Given the description of an element on the screen output the (x, y) to click on. 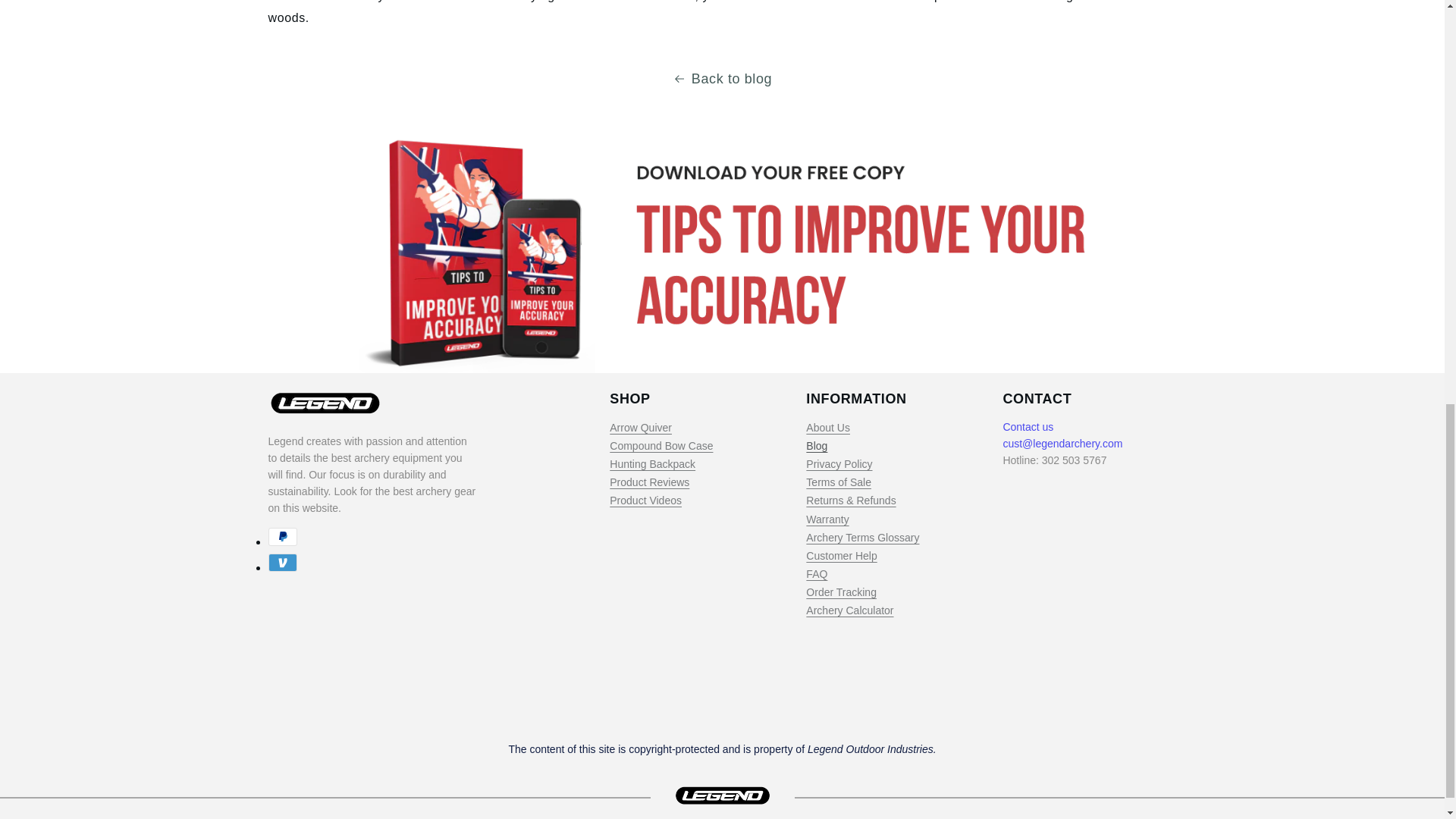
Contact Us (1027, 426)
PayPal (282, 536)
Venmo (282, 562)
